Given the description of an element on the screen output the (x, y) to click on. 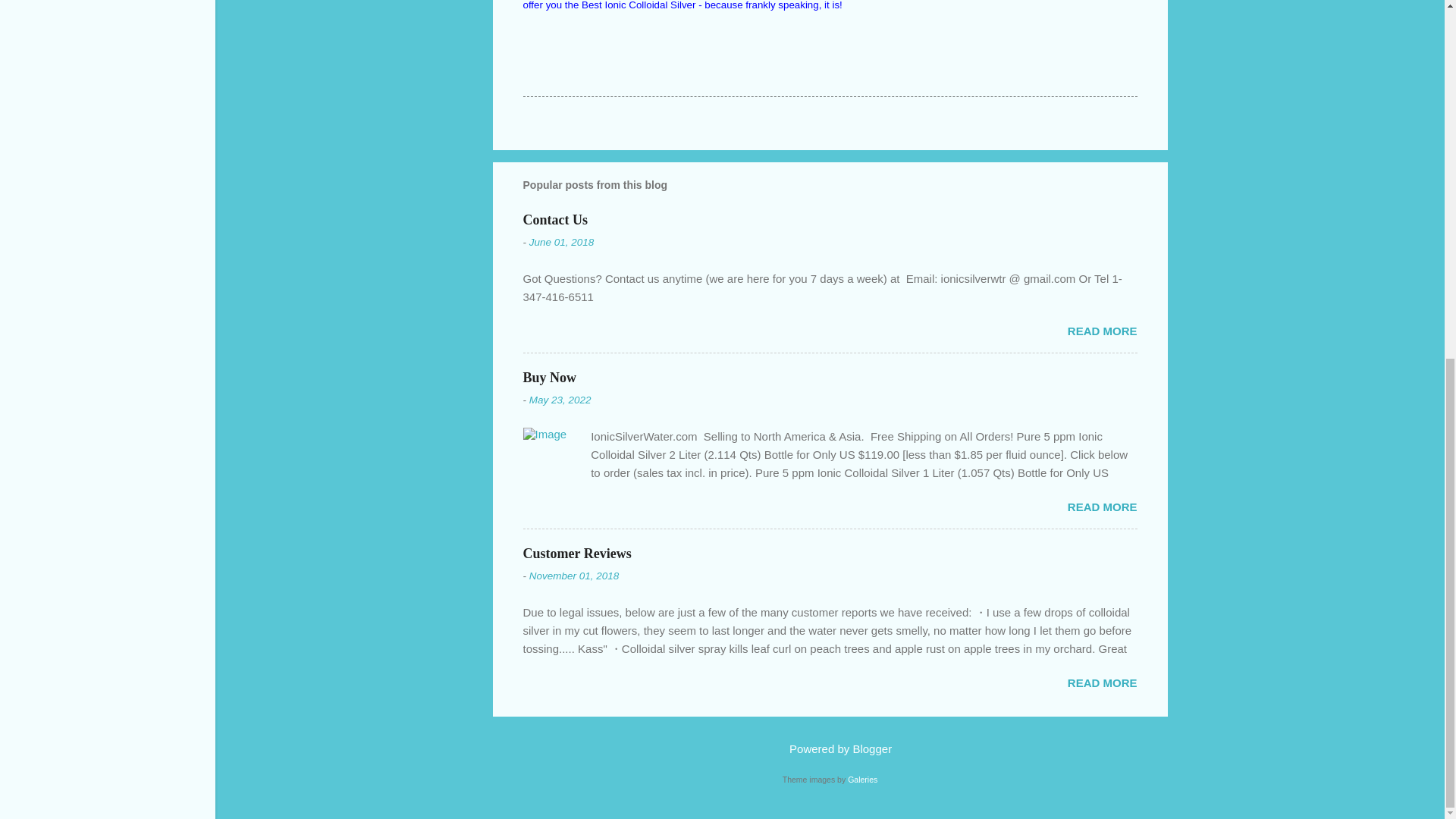
Buy Now (549, 377)
Customer Reviews (576, 553)
READ MORE (1102, 506)
November 01, 2018 (574, 575)
READ MORE (1102, 682)
Galeries (862, 778)
June 01, 2018 (561, 242)
READ MORE (1102, 330)
Contact Us (555, 219)
permanent link (561, 242)
